Given the description of an element on the screen output the (x, y) to click on. 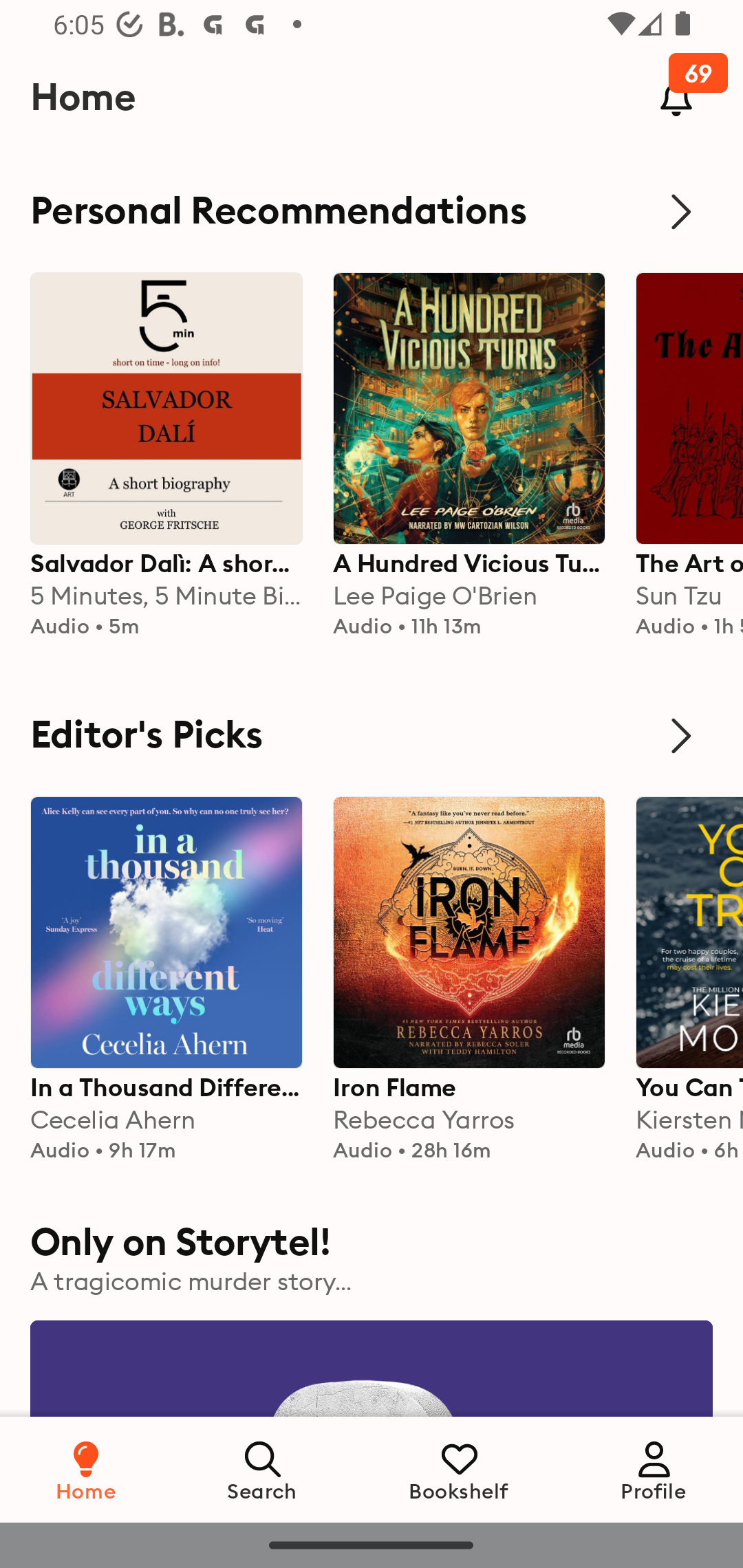
Personal Recommendations (371, 211)
Editor's Picks (371, 735)
Home (85, 1468)
Search (262, 1468)
Bookshelf (458, 1468)
Profile (653, 1468)
